Given the description of an element on the screen output the (x, y) to click on. 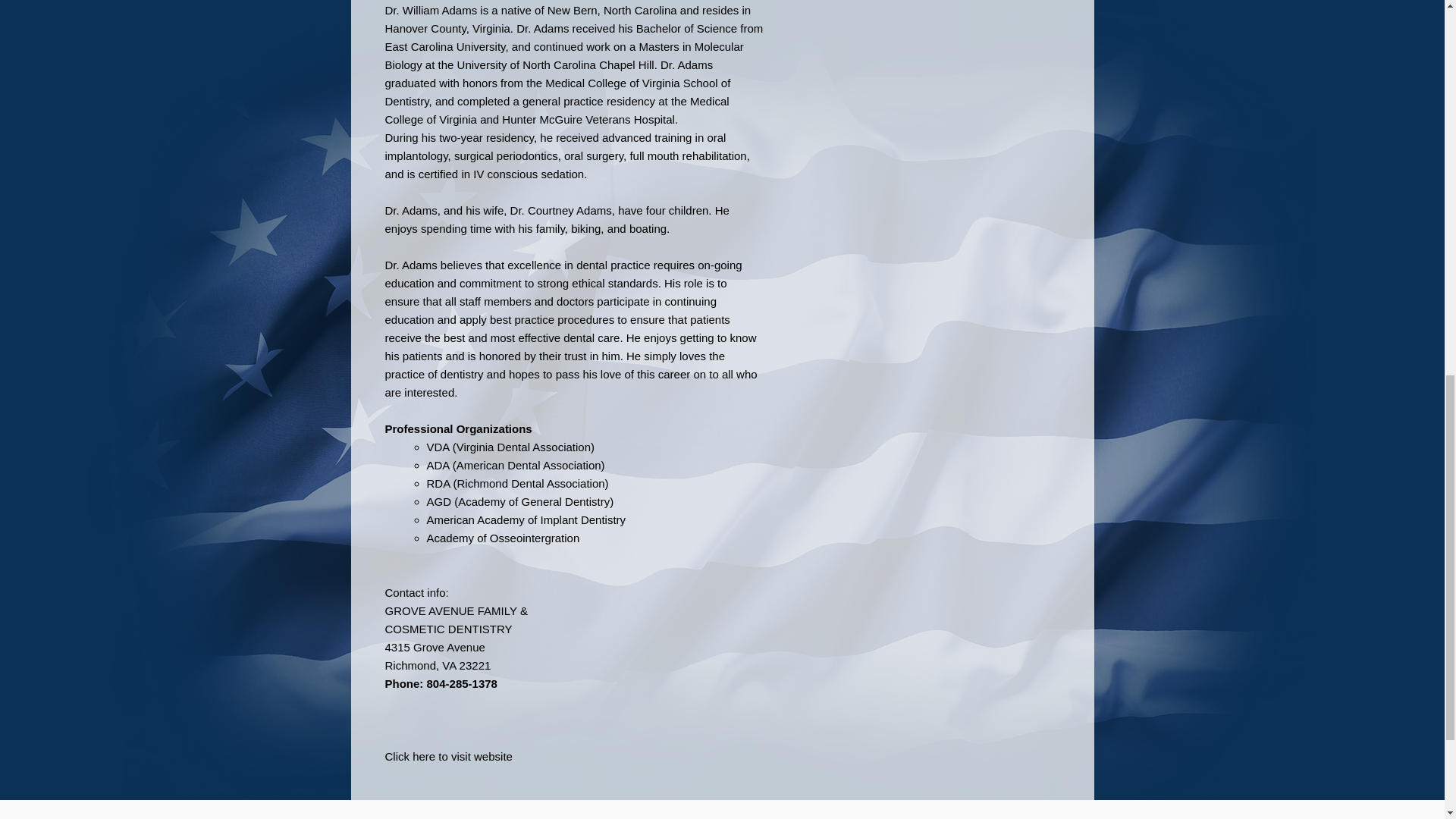
NOMINATIONS (721, 817)
ABOUT US (570, 817)
ACCEPTANCE (873, 817)
